Given the description of an element on the screen output the (x, y) to click on. 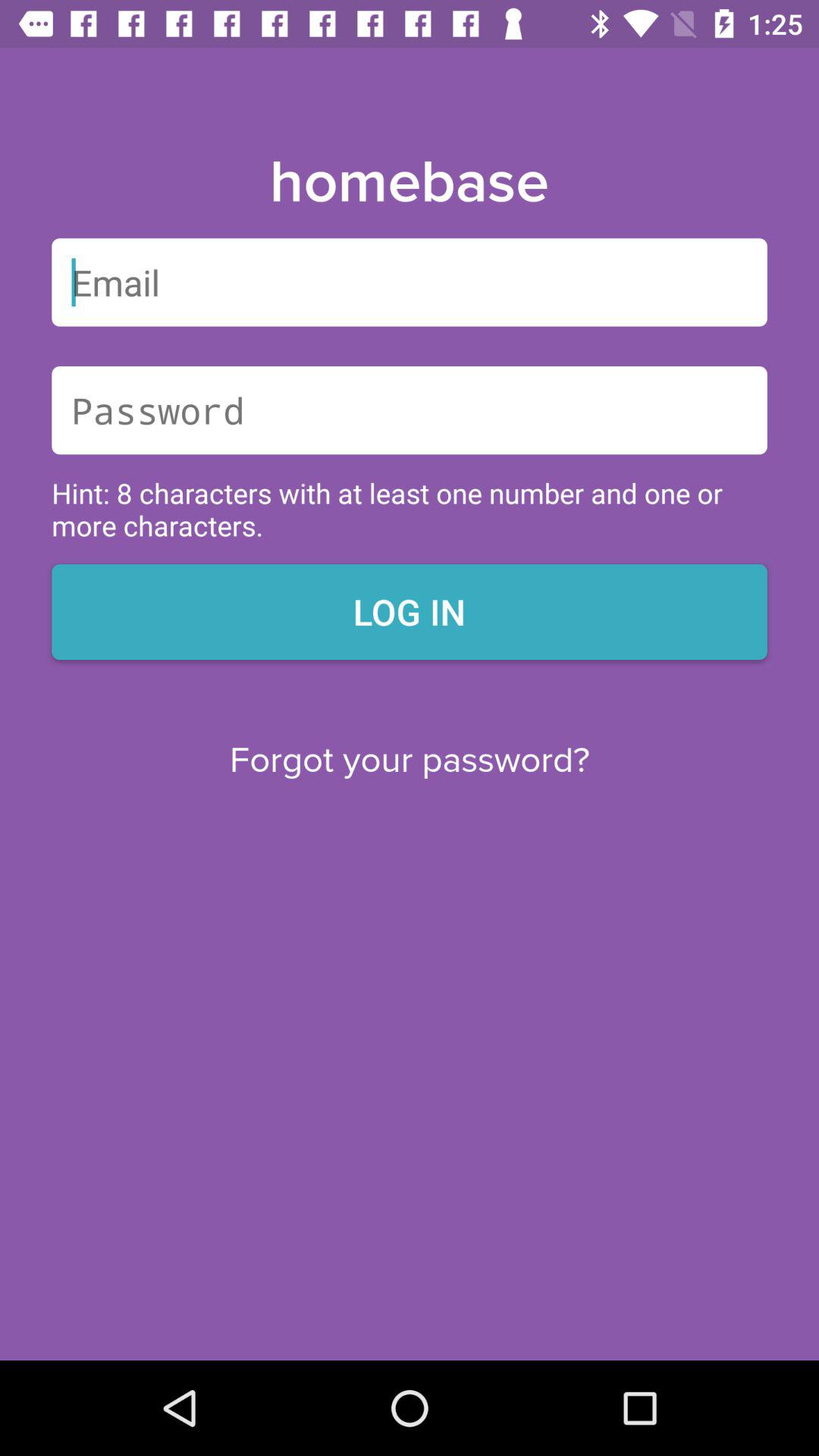
enter password (409, 410)
